Given the description of an element on the screen output the (x, y) to click on. 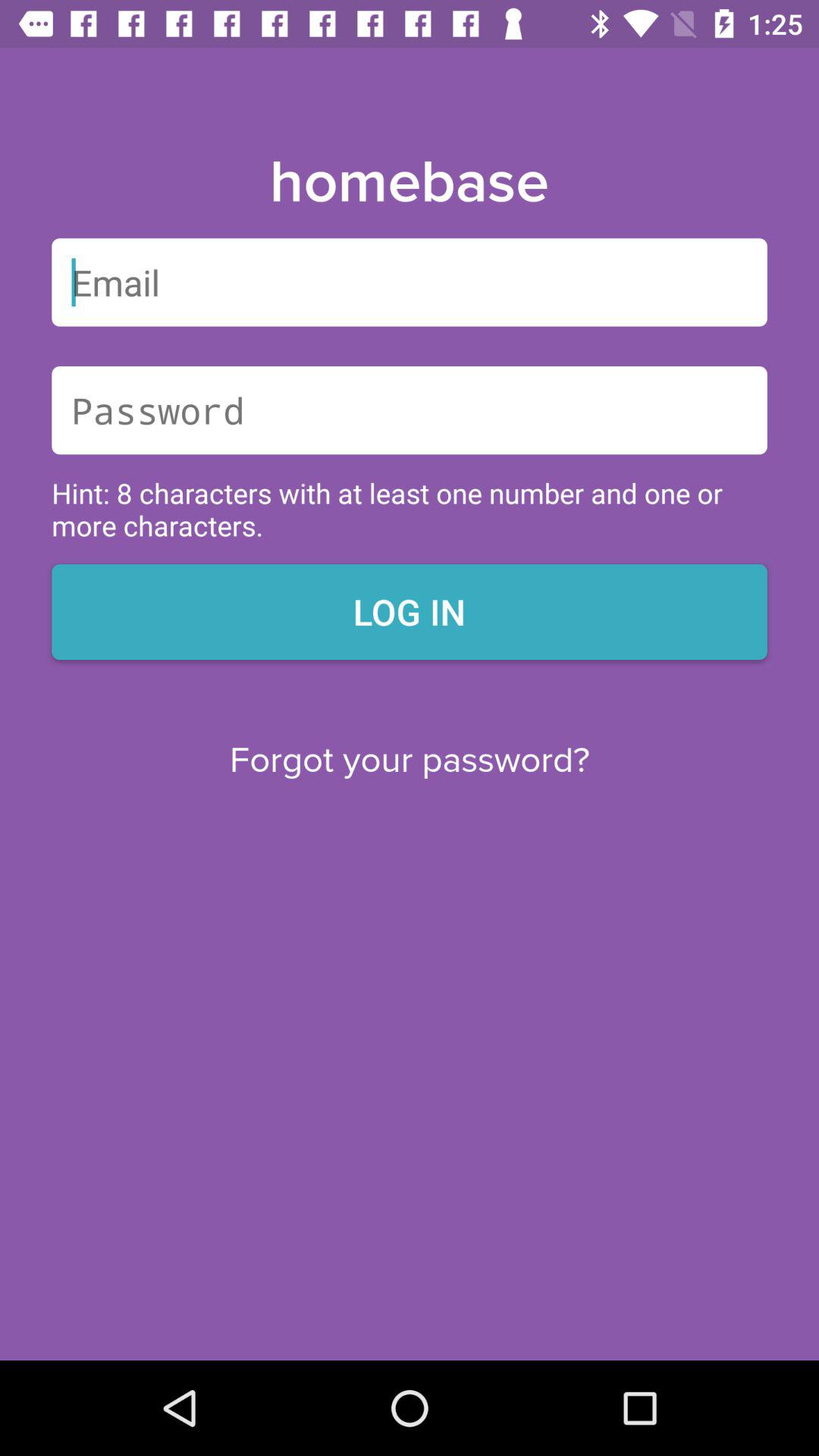
enter password (409, 410)
